Given the description of an element on the screen output the (x, y) to click on. 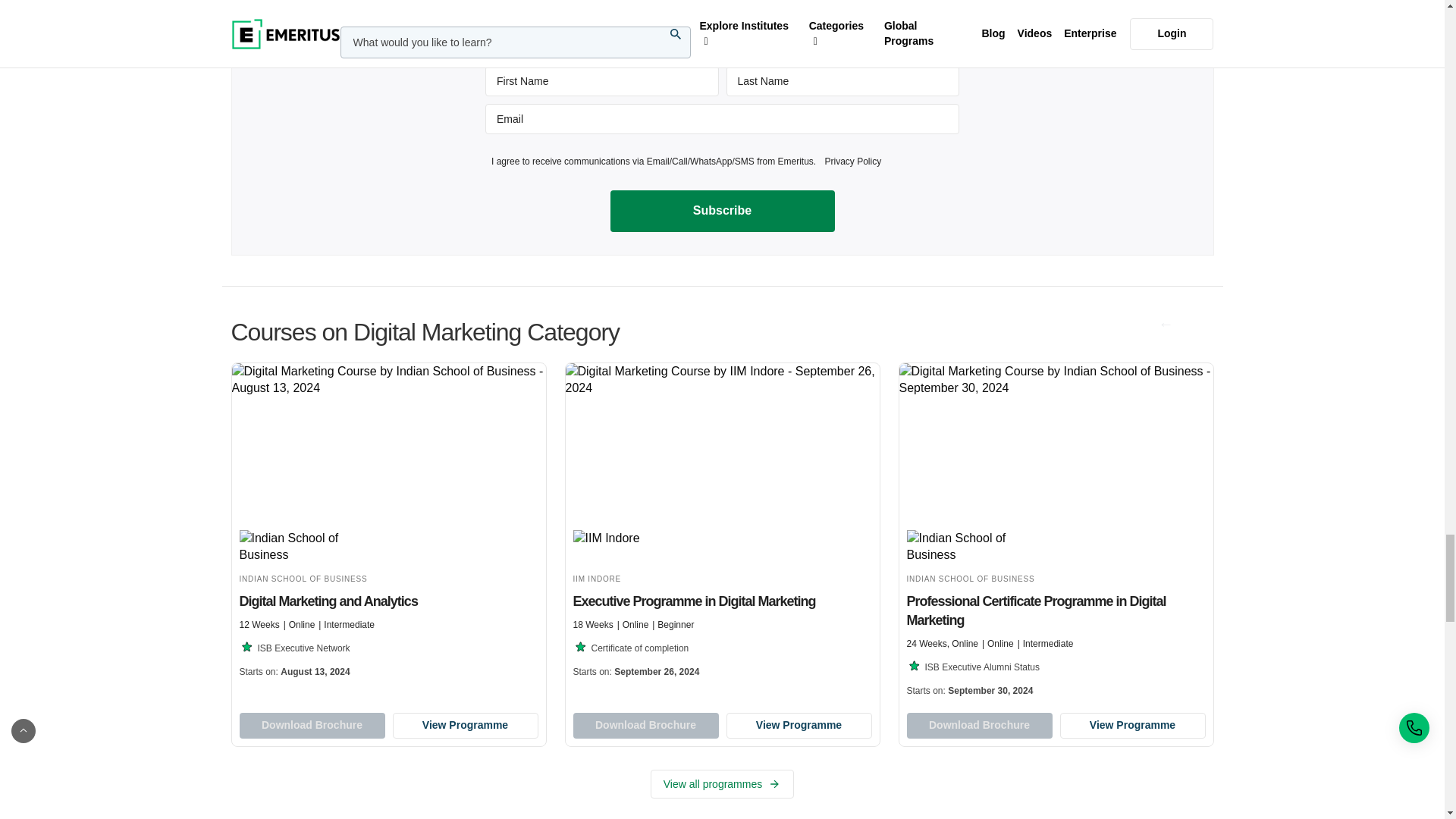
Indian School of Business (305, 546)
Subscribe (722, 210)
Indian School of Business (973, 546)
Executive Programme in Digital Marketing (722, 524)
Professional Certificate Programme in Digital Marketing (1055, 534)
Digital Marketing and Analytics (388, 524)
IIM Indore (638, 546)
